Given the description of an element on the screen output the (x, y) to click on. 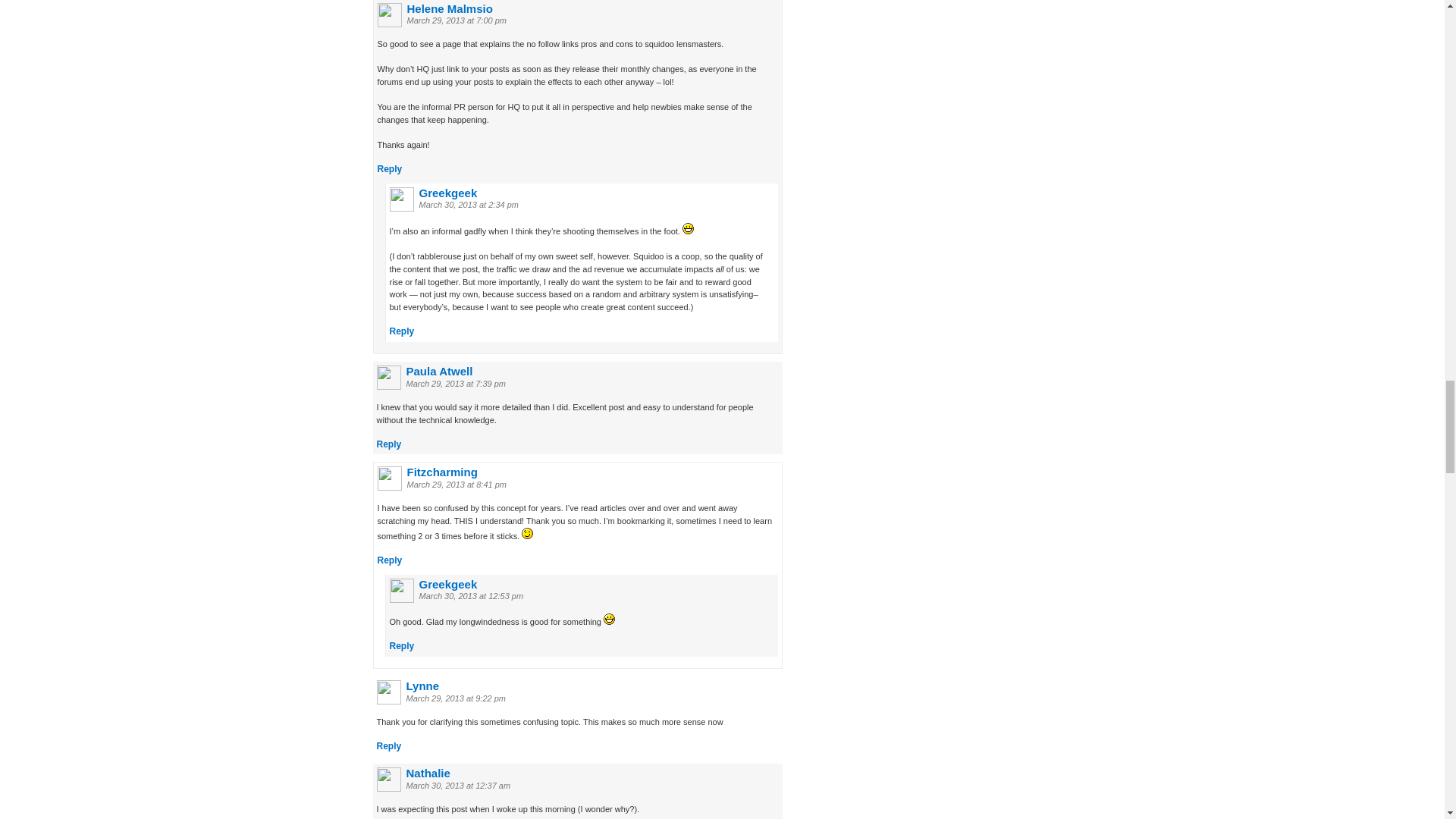
Reply (388, 746)
Paula Atwell (439, 370)
Reply (402, 330)
March 29, 2013 at 8:41 pm (455, 483)
Helene Malmsio (449, 8)
Reply (390, 560)
Nathalie (427, 772)
March 30, 2013 at 12:37 am (458, 785)
March 29, 2013 at 9:22 pm (455, 697)
Lynne (422, 685)
